Given the description of an element on the screen output the (x, y) to click on. 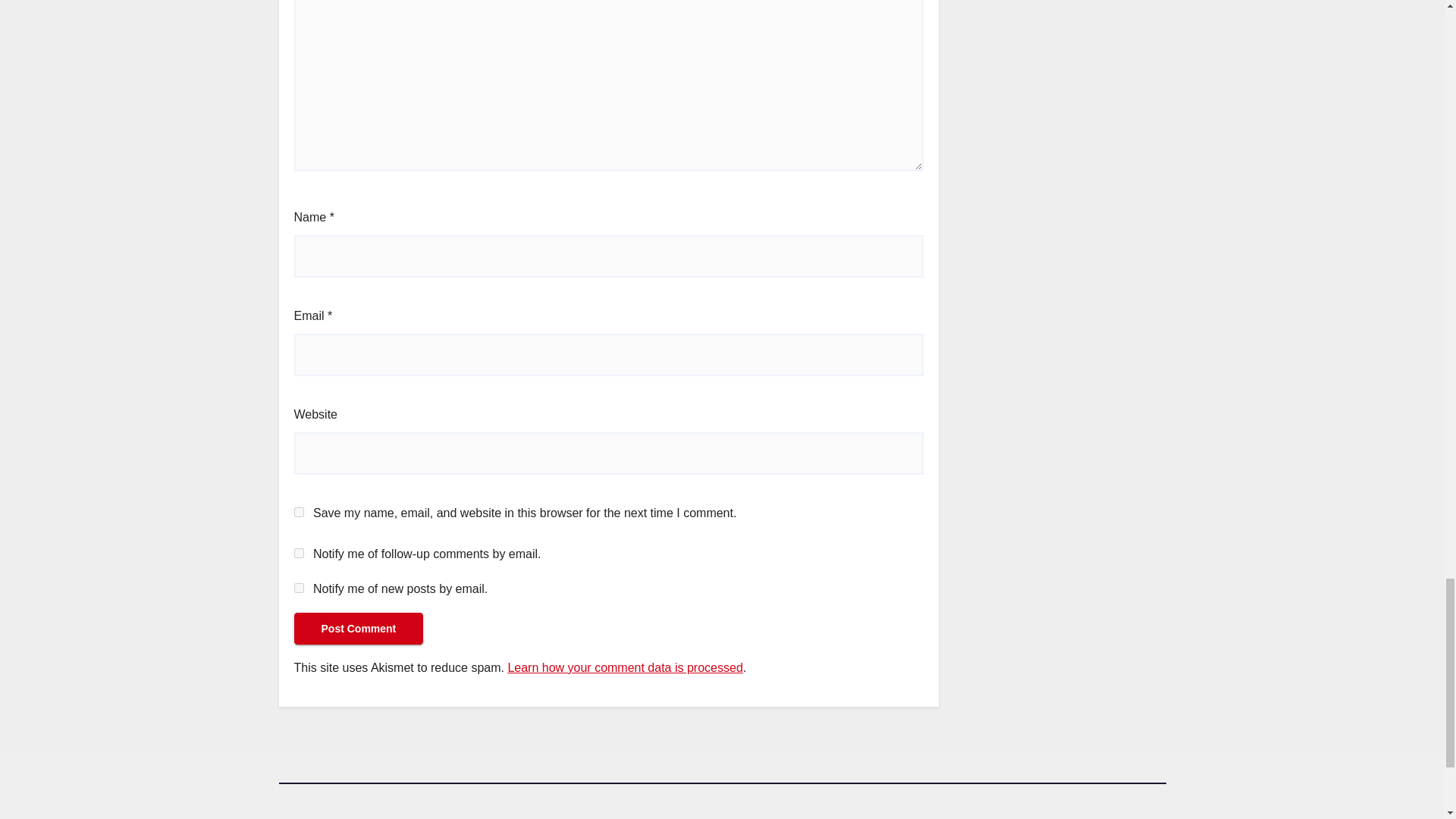
subscribe (299, 552)
subscribe (299, 587)
Post Comment (358, 628)
yes (299, 511)
